Given the description of an element on the screen output the (x, y) to click on. 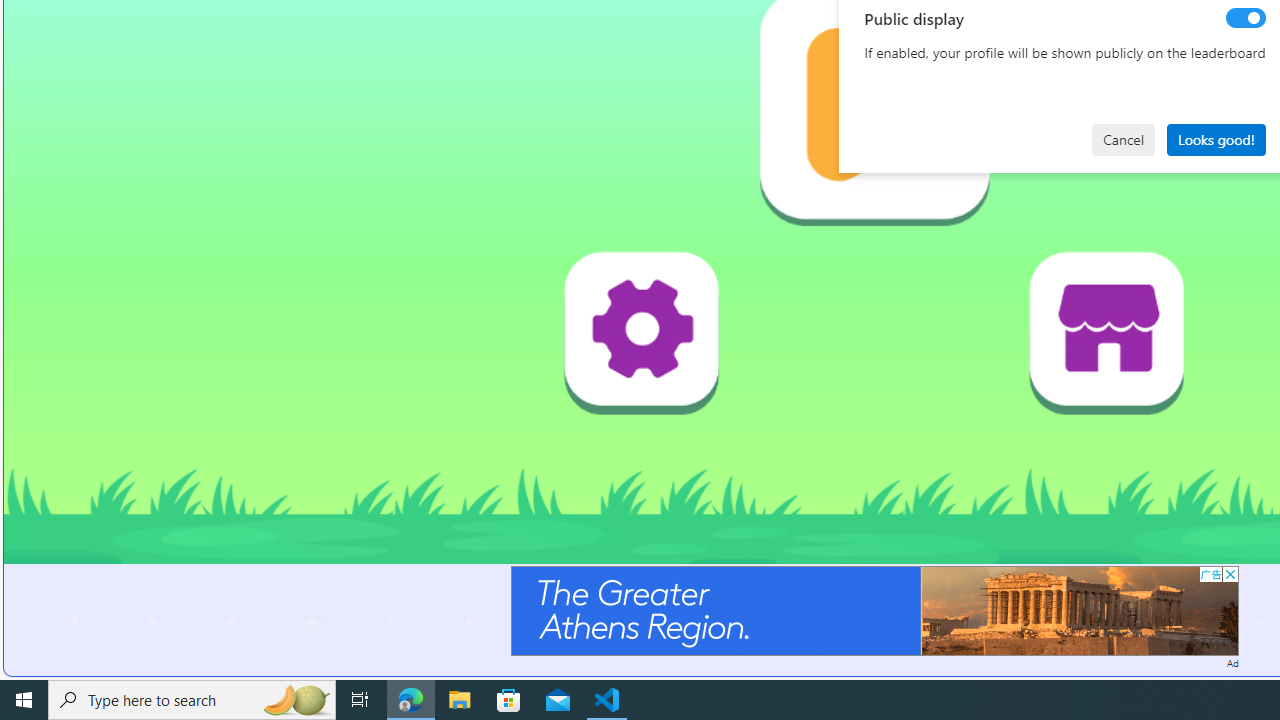
Looks good! (1216, 139)
AutomationID: cbb (1229, 574)
Cancel (1123, 139)
Advertisement (874, 610)
Ad (1232, 661)
Advertisement (874, 610)
